Given the description of an element on the screen output the (x, y) to click on. 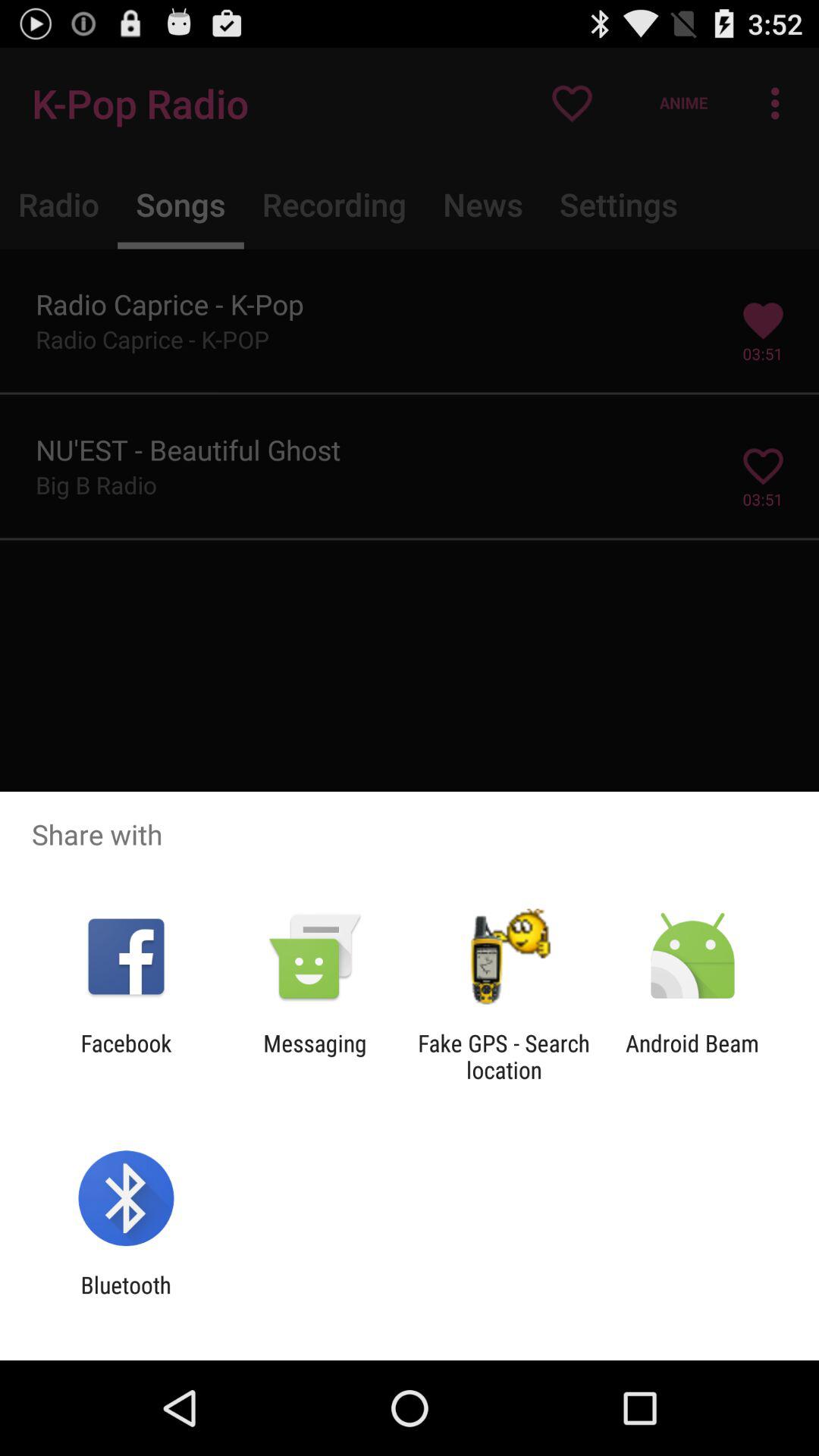
turn on the facebook app (125, 1056)
